Given the description of an element on the screen output the (x, y) to click on. 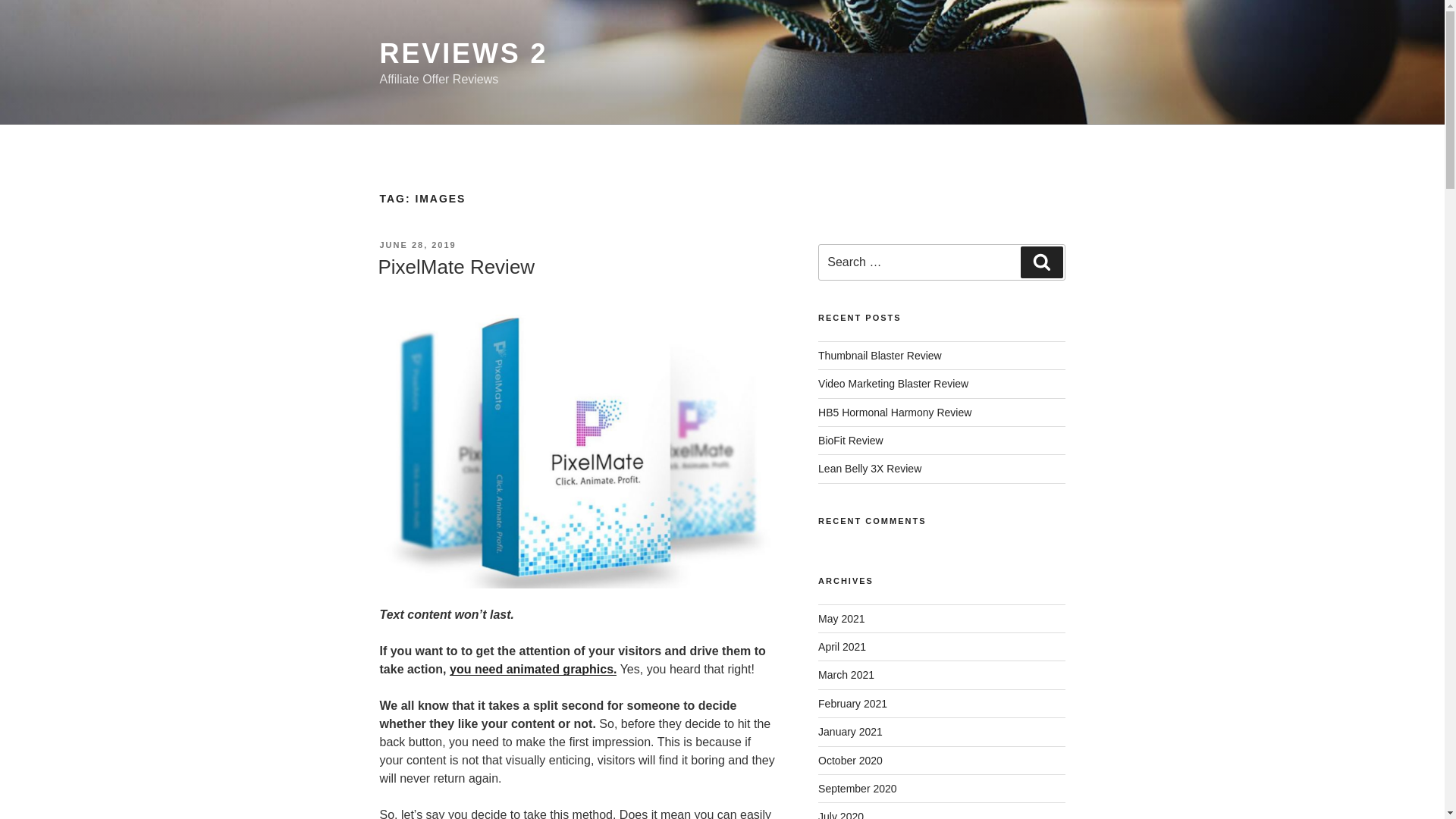
March 2021 (846, 674)
Thumbnail Blaster Review (880, 355)
Lean Belly 3X Review (869, 468)
JUNE 28, 2019 (416, 244)
Search (1041, 262)
Video Marketing Blaster Review (893, 383)
May 2021 (841, 618)
April 2021 (842, 646)
October 2020 (850, 760)
PixelMate Review (455, 266)
HB5 Hormonal Harmony Review (894, 412)
January 2021 (850, 731)
REVIEWS 2 (462, 52)
you need animated graphics. (533, 668)
BioFit Review (850, 440)
